Given the description of an element on the screen output the (x, y) to click on. 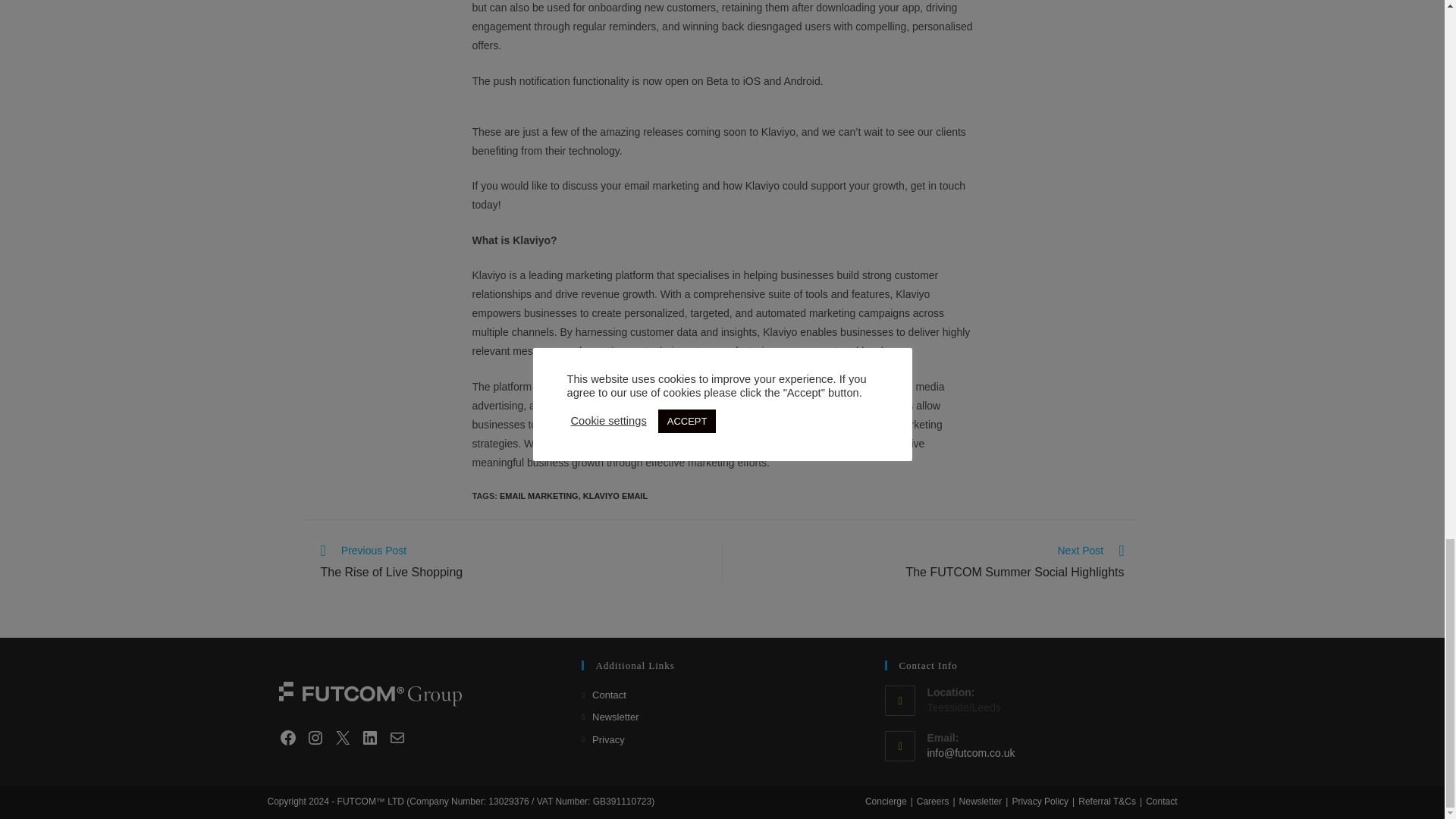
Privacy (602, 739)
KLAVIYO EMAIL (615, 495)
Newsletter (609, 716)
EMAIL MARKETING (538, 495)
Facebook (288, 737)
Instagram (314, 737)
X (930, 562)
LinkedIn (342, 737)
Contact (369, 737)
